Given the description of an element on the screen output the (x, y) to click on. 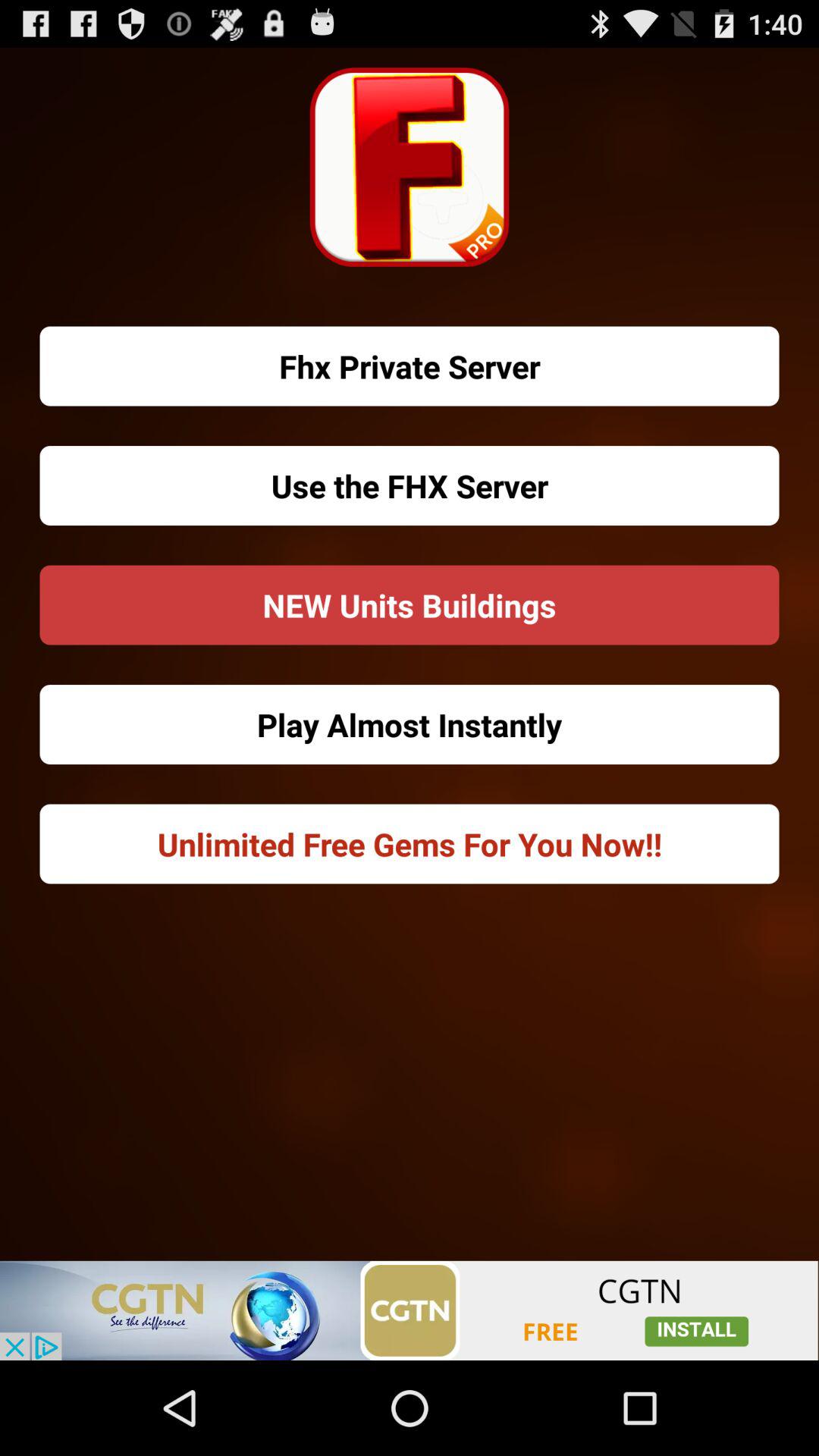
open an advertised app (409, 1310)
